Given the description of an element on the screen output the (x, y) to click on. 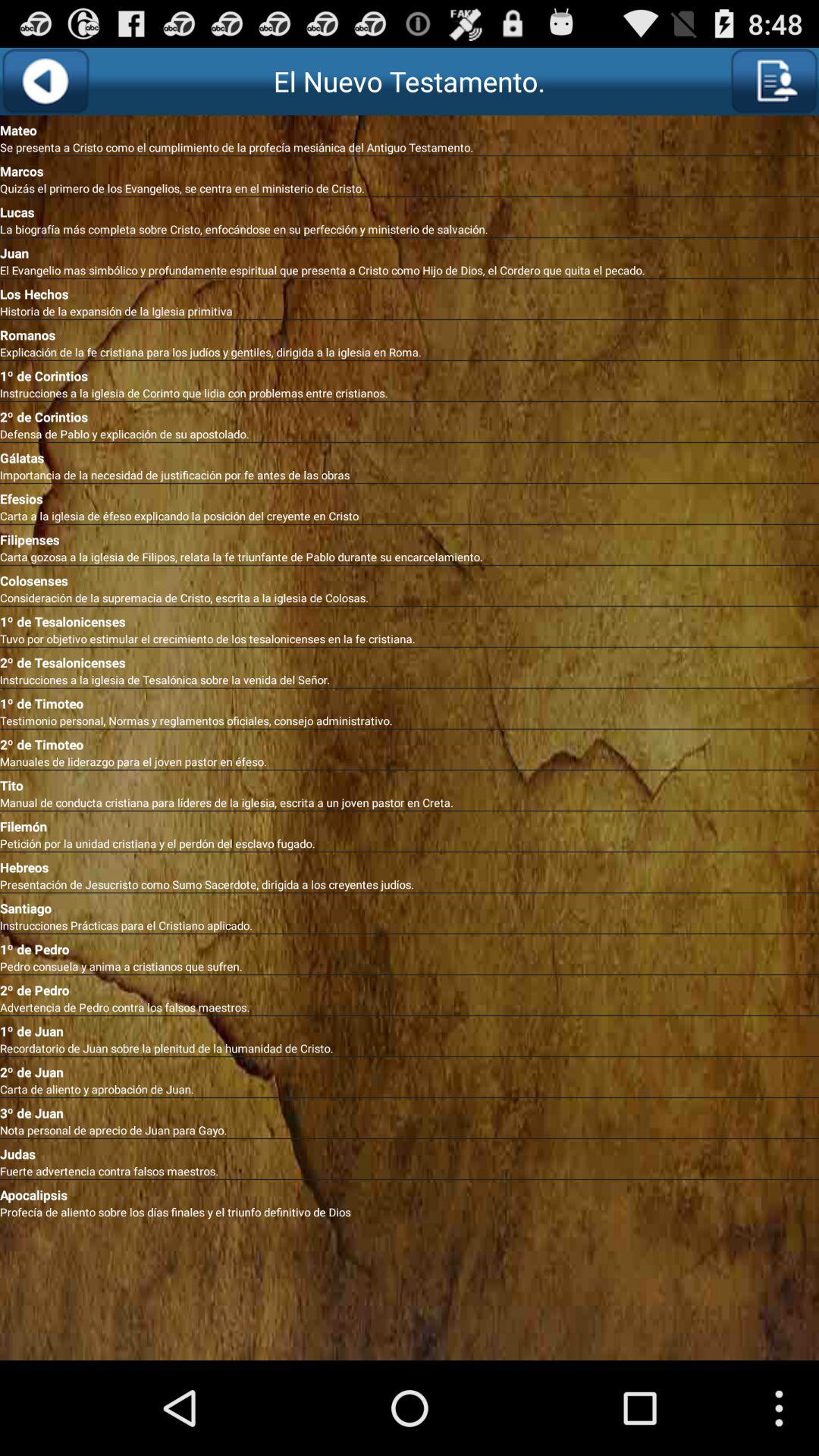
open the recordatorio de juan app (409, 1048)
